Given the description of an element on the screen output the (x, y) to click on. 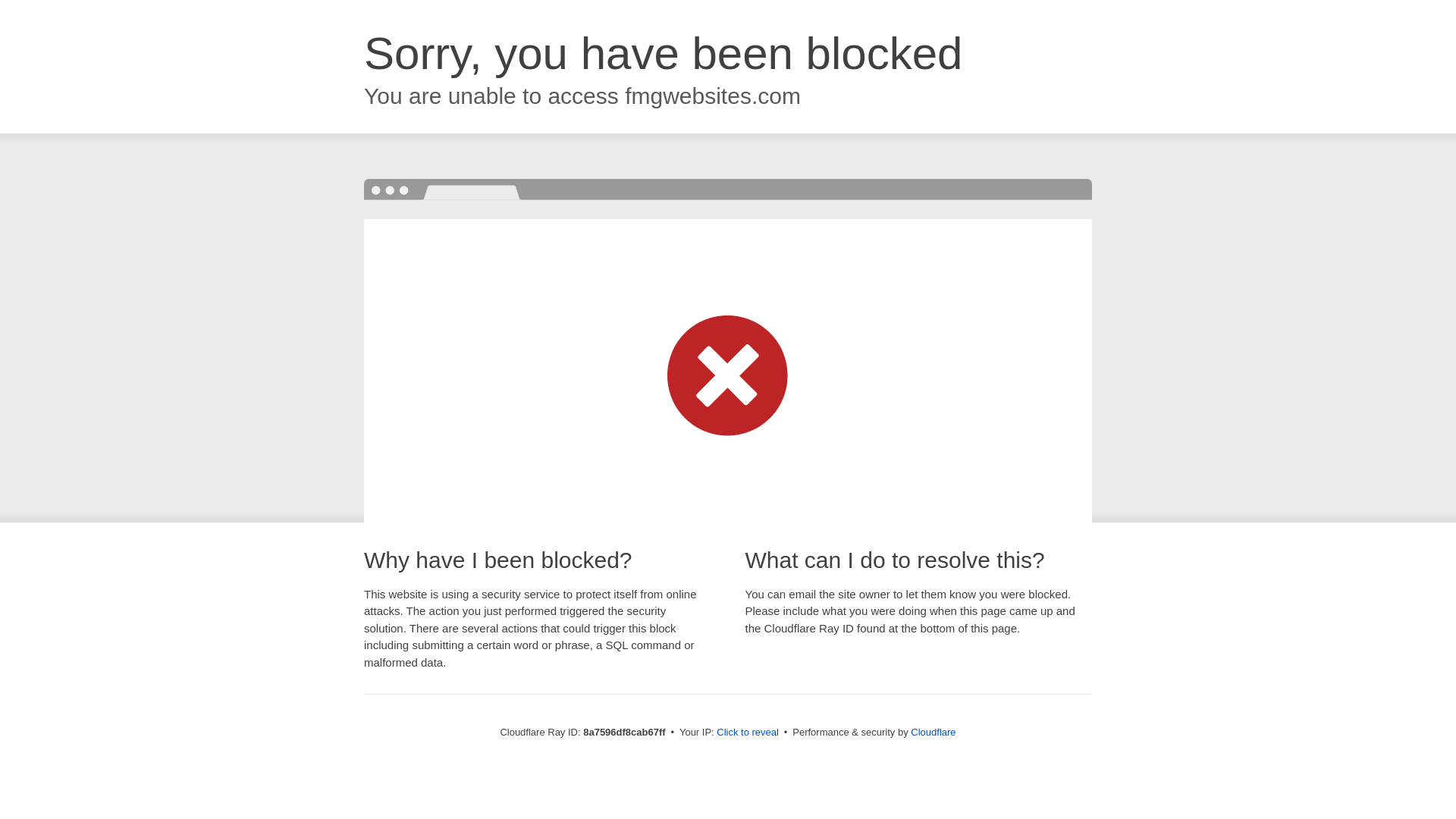
Cloudflare (933, 731)
Click to reveal (747, 732)
